Given the description of an element on the screen output the (x, y) to click on. 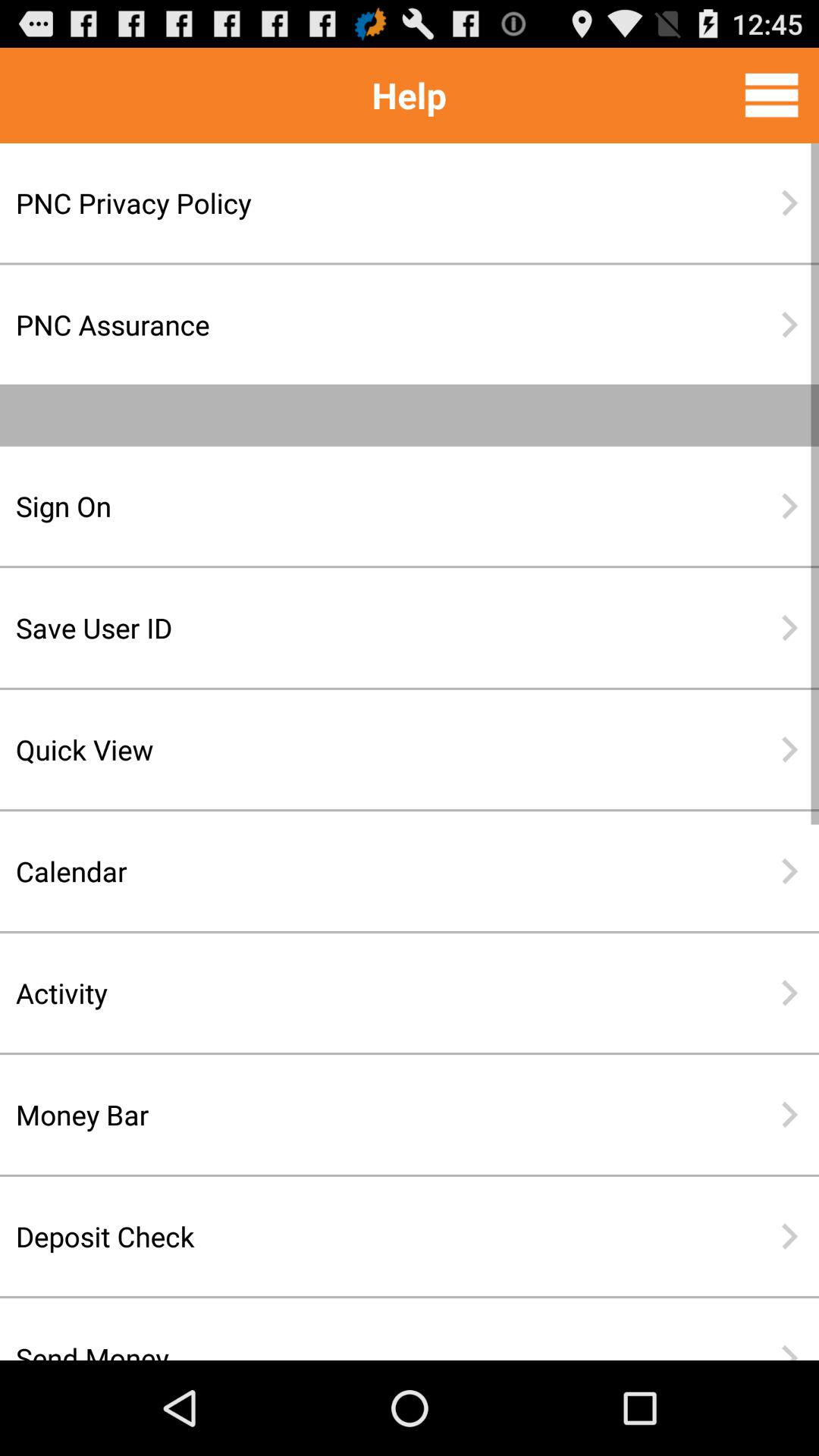
choose item to the right of send money icon (789, 1352)
